Given the description of an element on the screen output the (x, y) to click on. 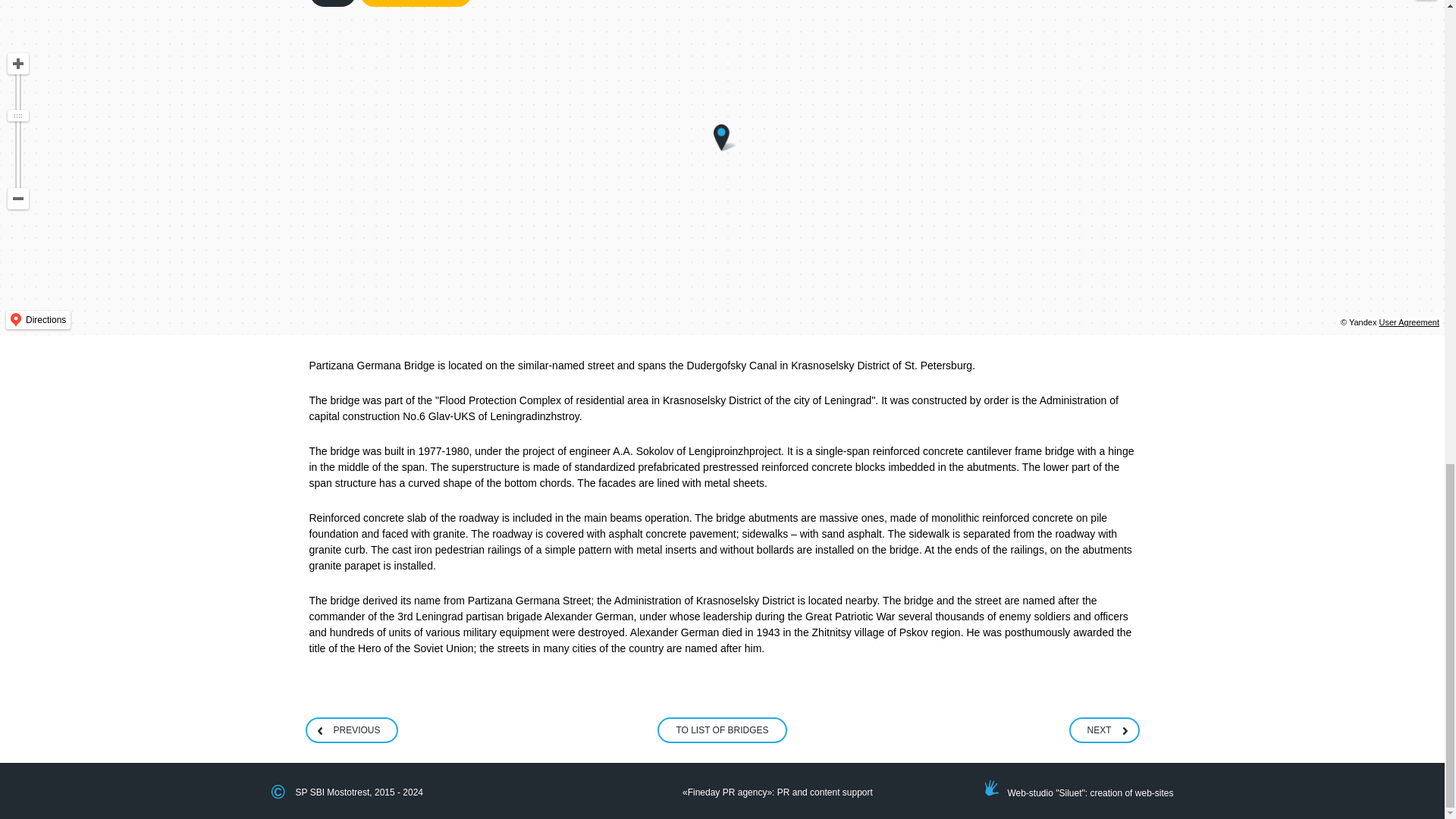
User Agreement (1408, 321)
creation of web-sites (1131, 792)
PANORAMIC VIEW (415, 3)
PREVIOUS (350, 729)
MAP (332, 3)
Directions (37, 320)
TO LIST OF BRIDGES (722, 729)
NEXT (1103, 729)
